Given the description of an element on the screen output the (x, y) to click on. 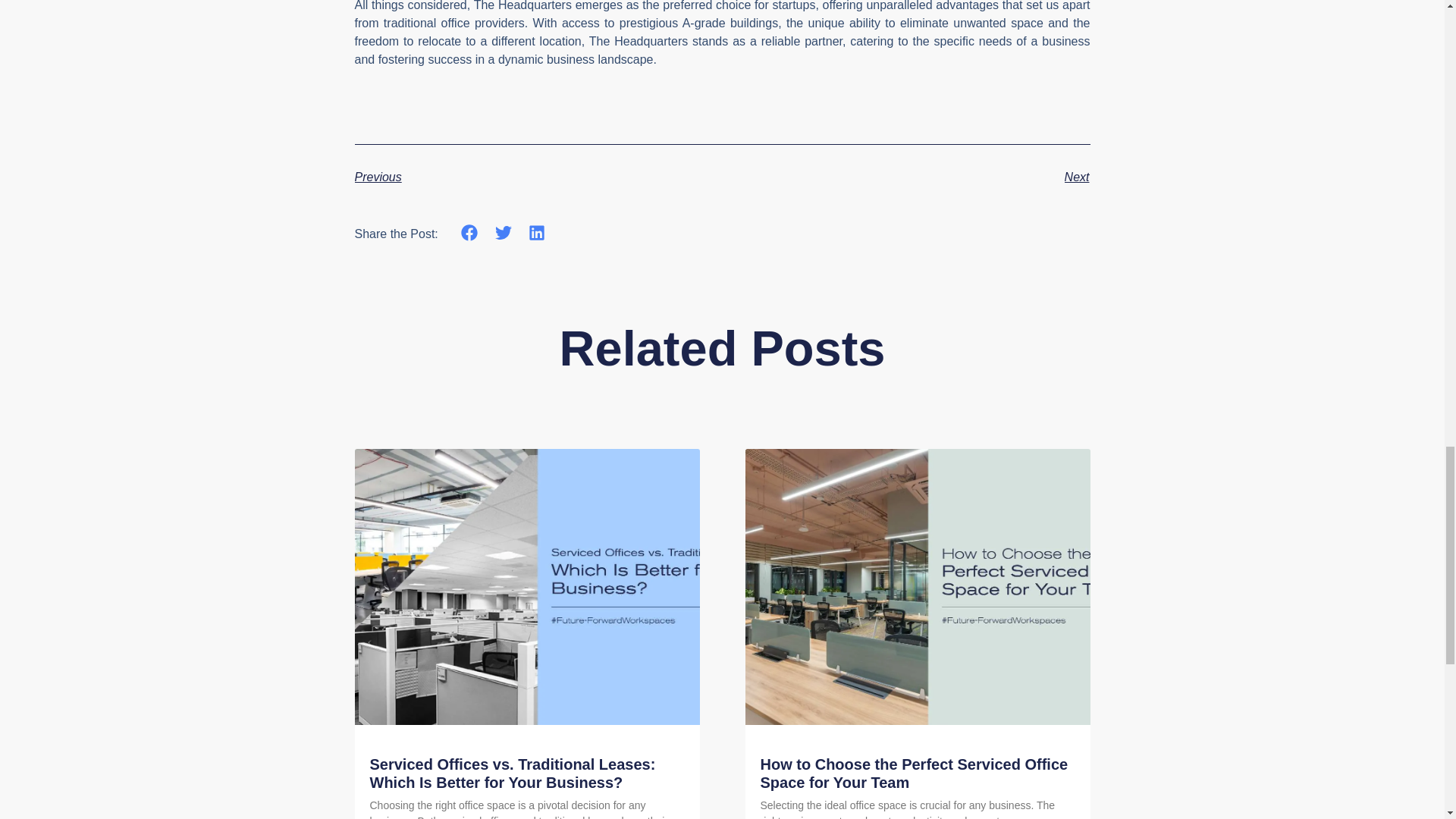
Next (905, 176)
Previous (538, 176)
